Given the description of an element on the screen output the (x, y) to click on. 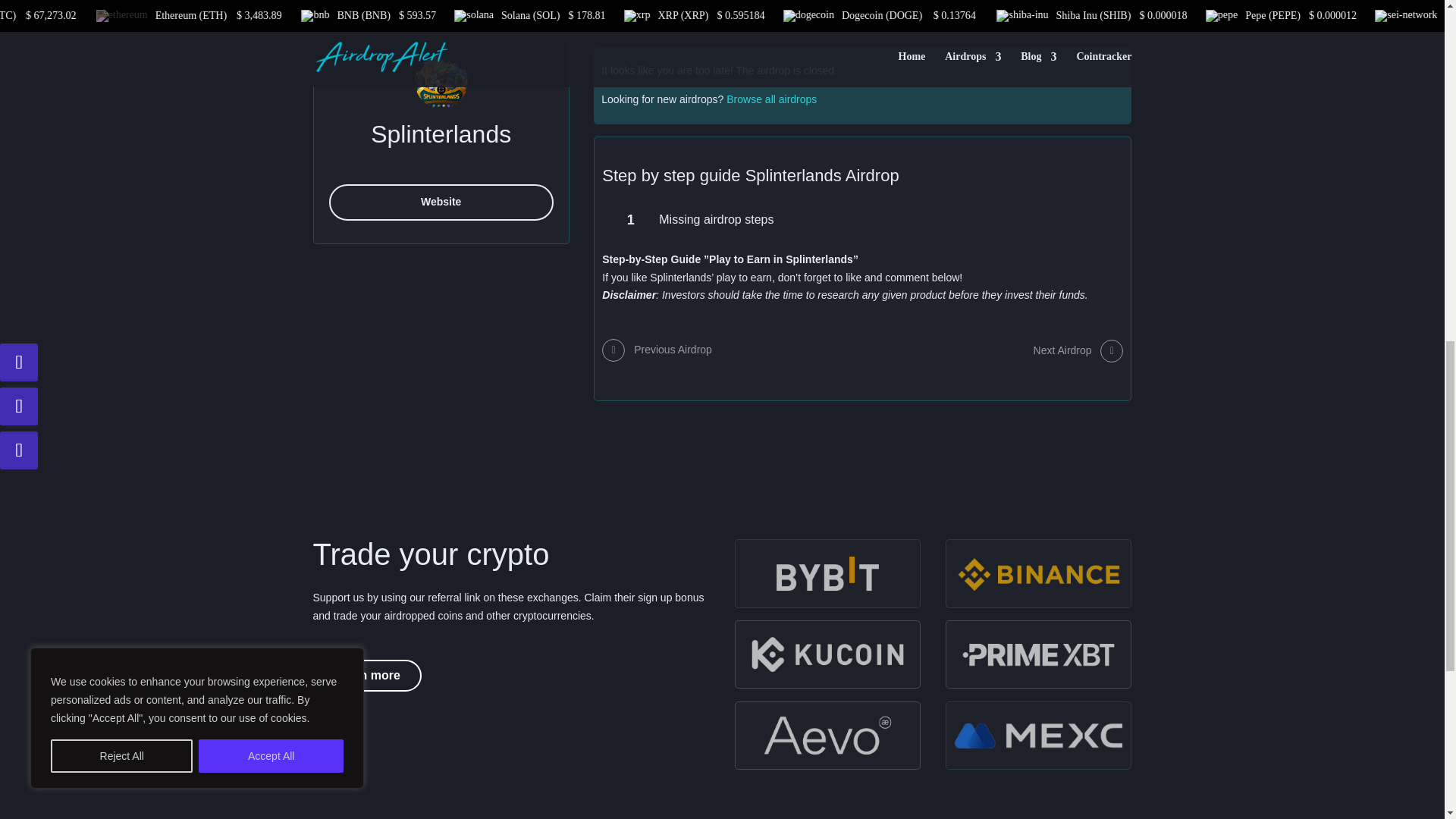
prime-xbt-logo-airdropalert (1038, 653)
AA-logos-exchanges-kucoin (827, 653)
airdropalert-bybit-logo (827, 572)
AA-logos-aevo (827, 735)
mexc-logo-airdropalert (1038, 735)
Airdropalert-Binance-logo (1038, 572)
